Given the description of an element on the screen output the (x, y) to click on. 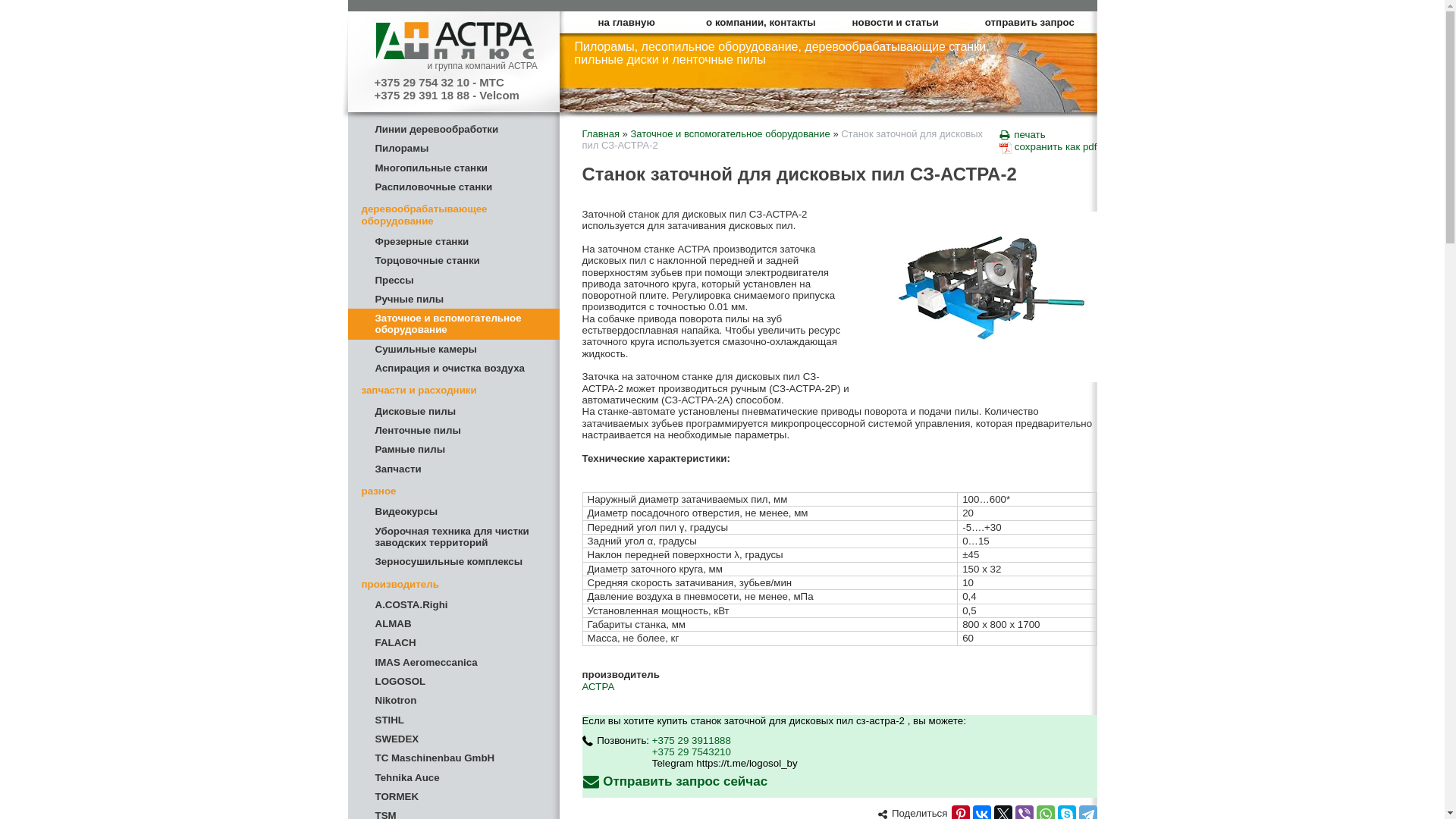
IMAS Aeromeccanica Element type: text (452, 661)
Nikotron Element type: text (452, 699)
ALMAB Element type: text (452, 623)
SWEDEX Element type: text (452, 738)
FALACH Element type: text (452, 642)
A.COSTA.Righi Element type: text (452, 604)
LOGOSOL Element type: text (452, 680)
+375 29 3911888 Element type: text (691, 740)
TORMEK Element type: text (452, 796)
Tehnika Auce Element type: text (452, 777)
TC Maschinenbau GmbH Element type: text (452, 757)
STIHL Element type: text (452, 719)
+375 29 7543210 Element type: text (691, 751)
